Given the description of an element on the screen output the (x, y) to click on. 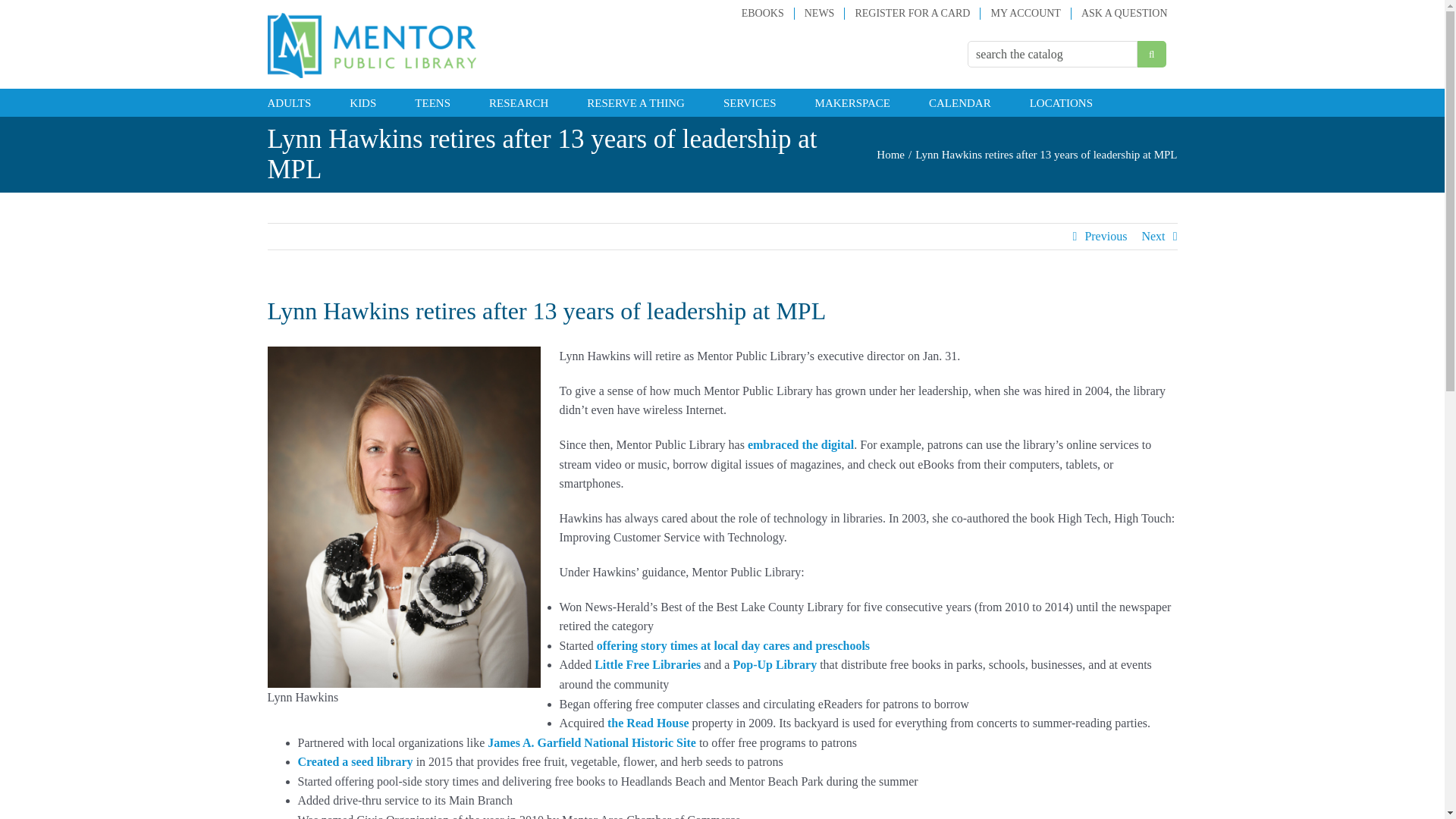
ADULTS (288, 102)
KIDS (362, 102)
REGISTER FOR A CARD (911, 13)
TEENS (431, 102)
MY ACCOUNT (1024, 13)
Search For: (1052, 53)
ASK A QUESTION (1124, 13)
EBOOKS (762, 13)
RESEARCH (518, 102)
NEWS (819, 13)
search the catalog (1052, 53)
